Given the description of an element on the screen output the (x, y) to click on. 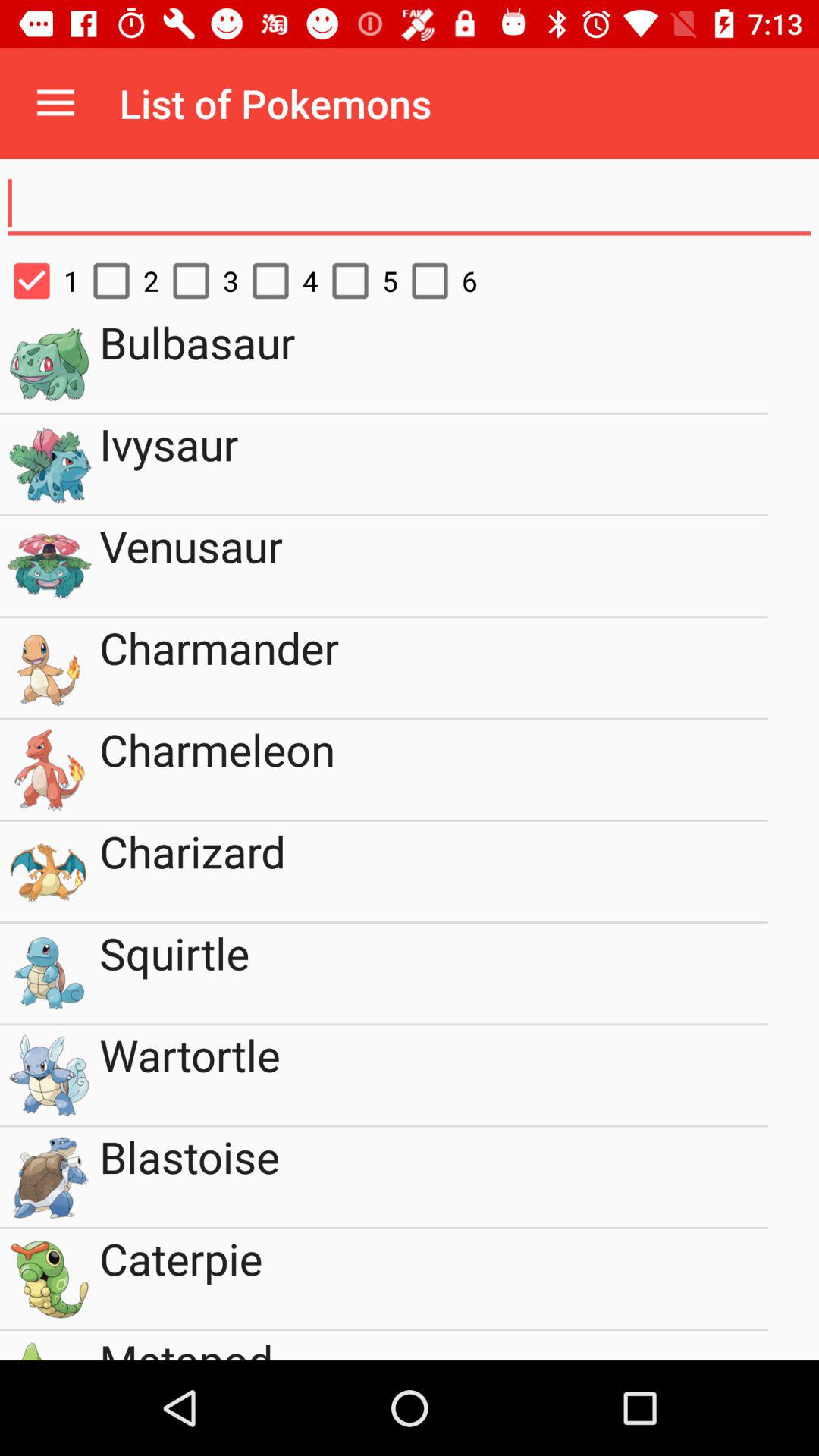
tap item to the right of 1 item (119, 280)
